Given the description of an element on the screen output the (x, y) to click on. 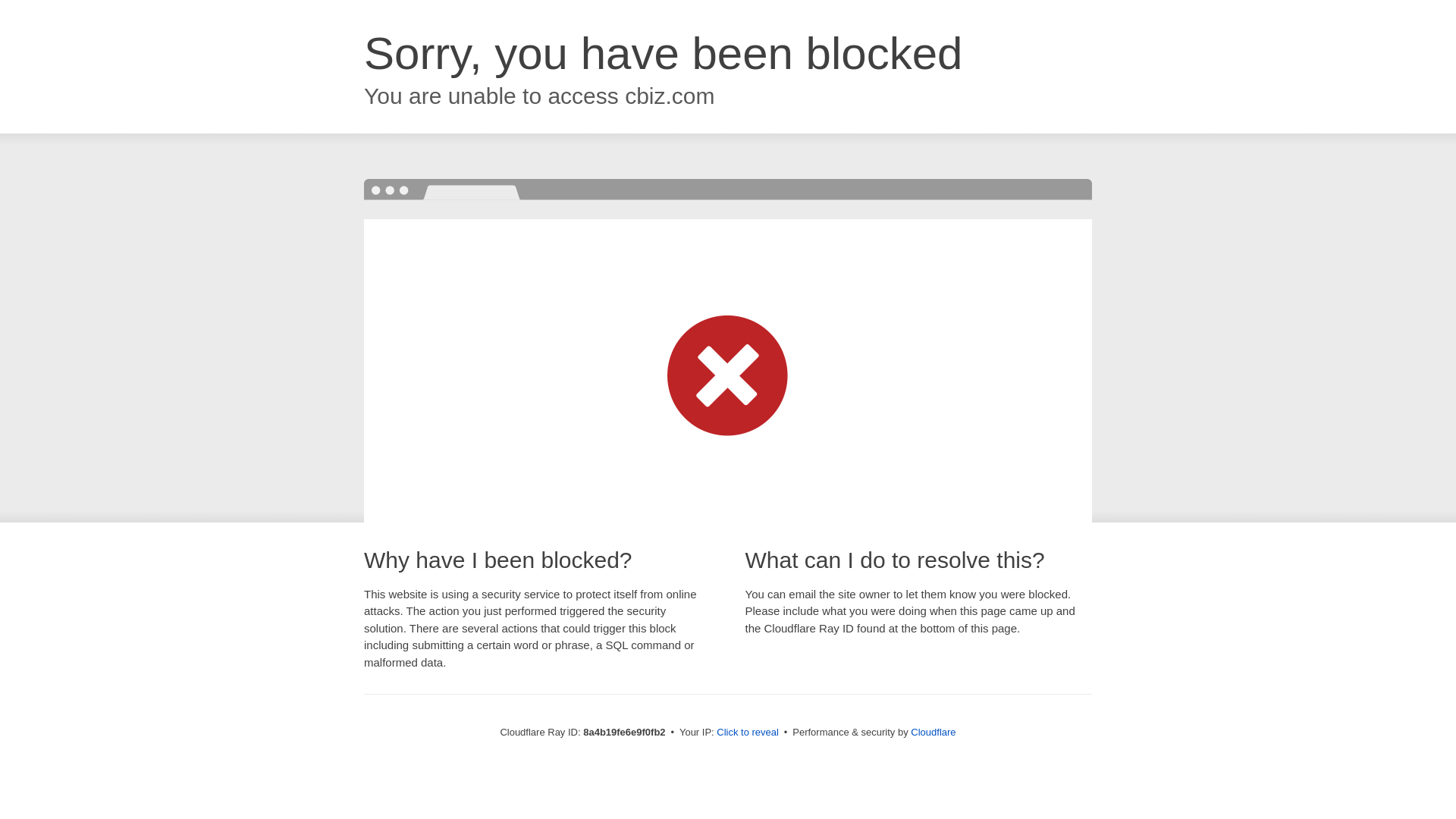
Click to reveal (747, 732)
Cloudflare (933, 731)
